Given the description of an element on the screen output the (x, y) to click on. 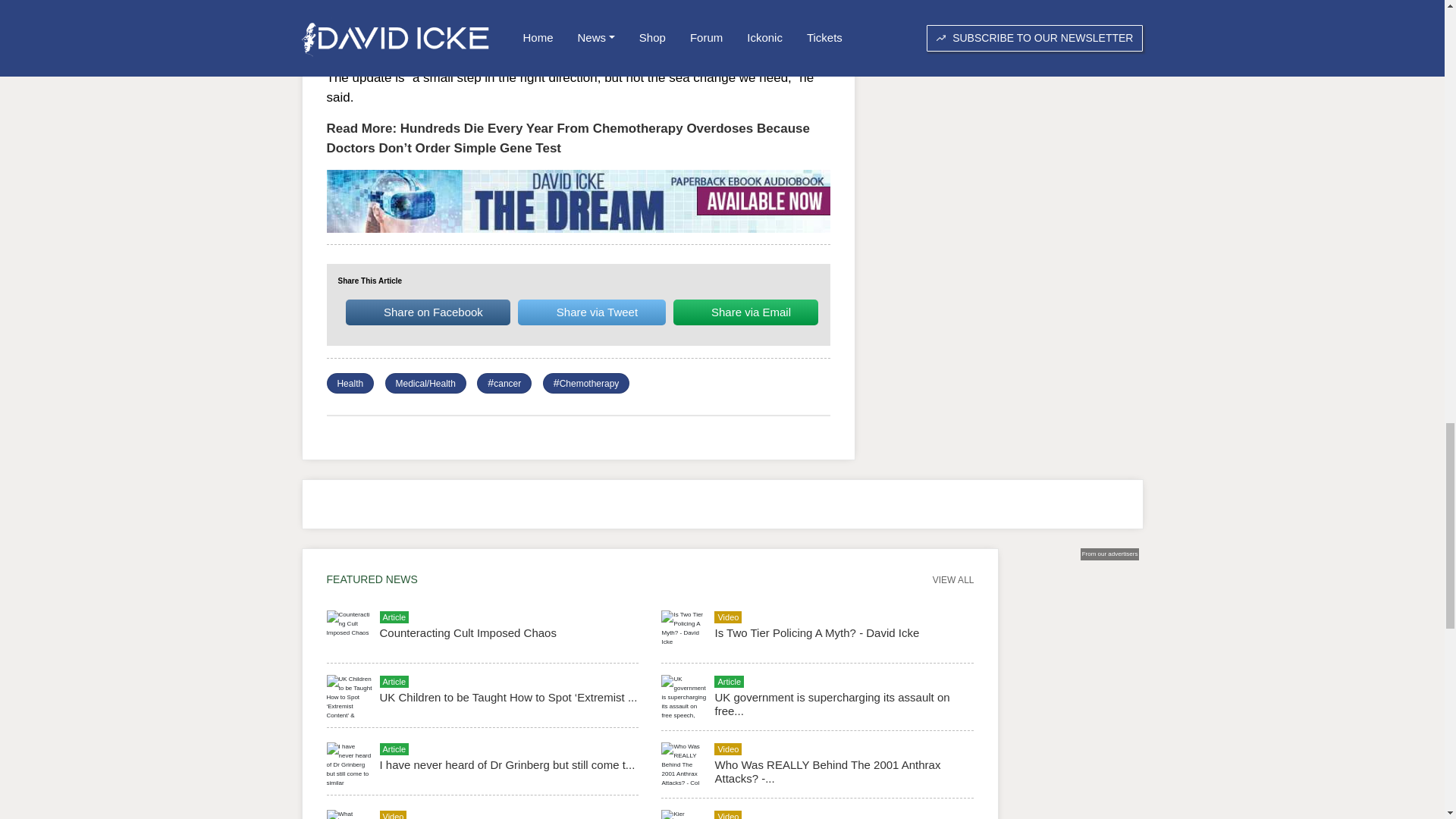
Counteracting Cult Imposed Chaos (467, 632)
Share on Facebook (428, 312)
Is Two Tier Policing A Myth? - David Icke (816, 632)
Share via Tweet (591, 312)
